Given the description of an element on the screen output the (x, y) to click on. 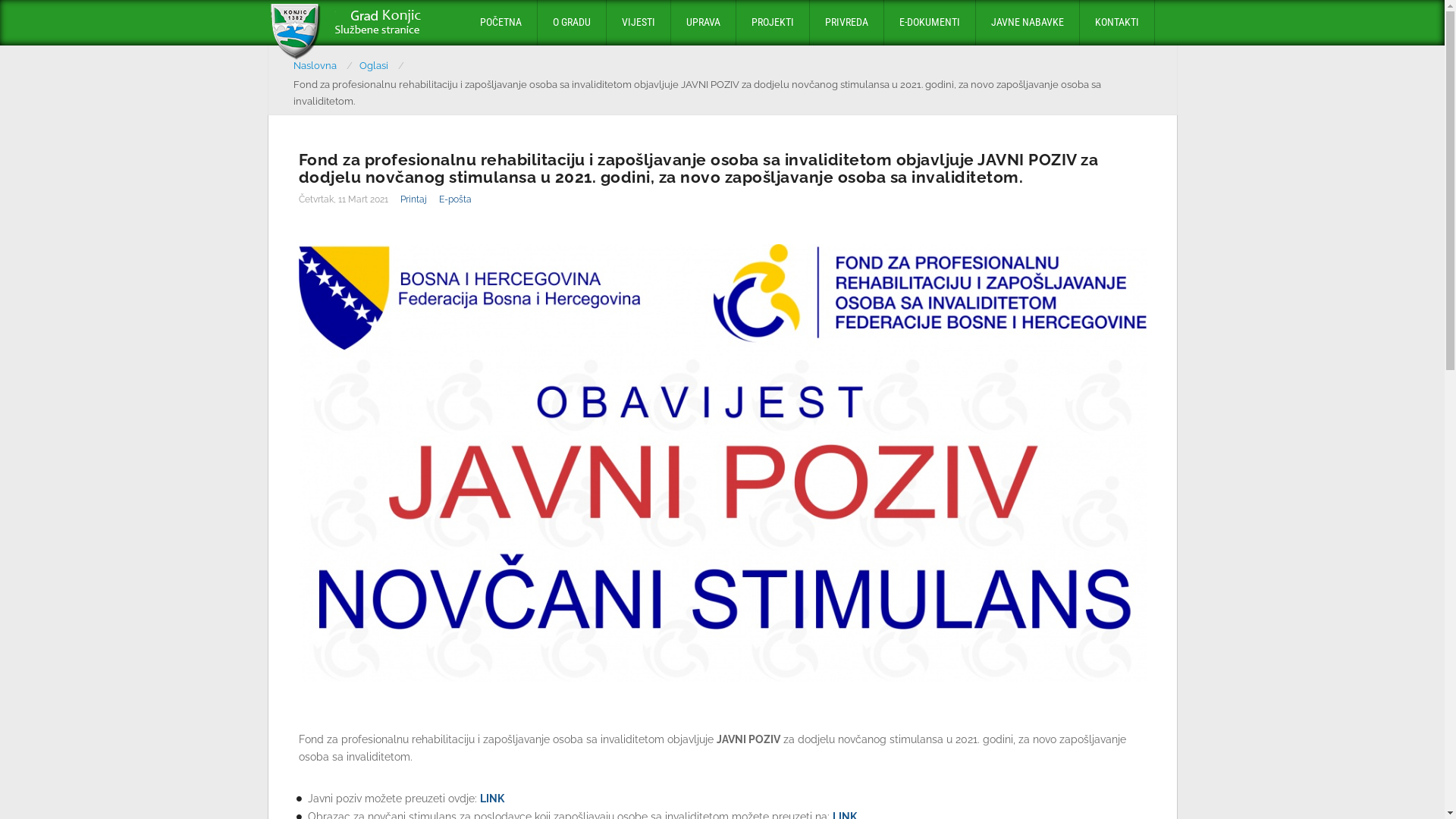
E-DOKUMENTI Element type: text (929, 22)
O GRADU Element type: text (570, 22)
LINK Element type: text (492, 797)
UPRAVA Element type: text (702, 22)
JAVNE NABAVKE Element type: text (1026, 22)
PRIVREDA Element type: text (846, 22)
KONTAKTI Element type: text (1116, 22)
Oglasi Element type: text (381, 65)
Naslovna Element type: text (322, 65)
PROJEKTI Element type: text (771, 22)
Klikni za pregled fotografije Element type: hover (722, 462)
Printaj Element type: text (413, 199)
VIJESTI Element type: text (638, 22)
